Given the description of an element on the screen output the (x, y) to click on. 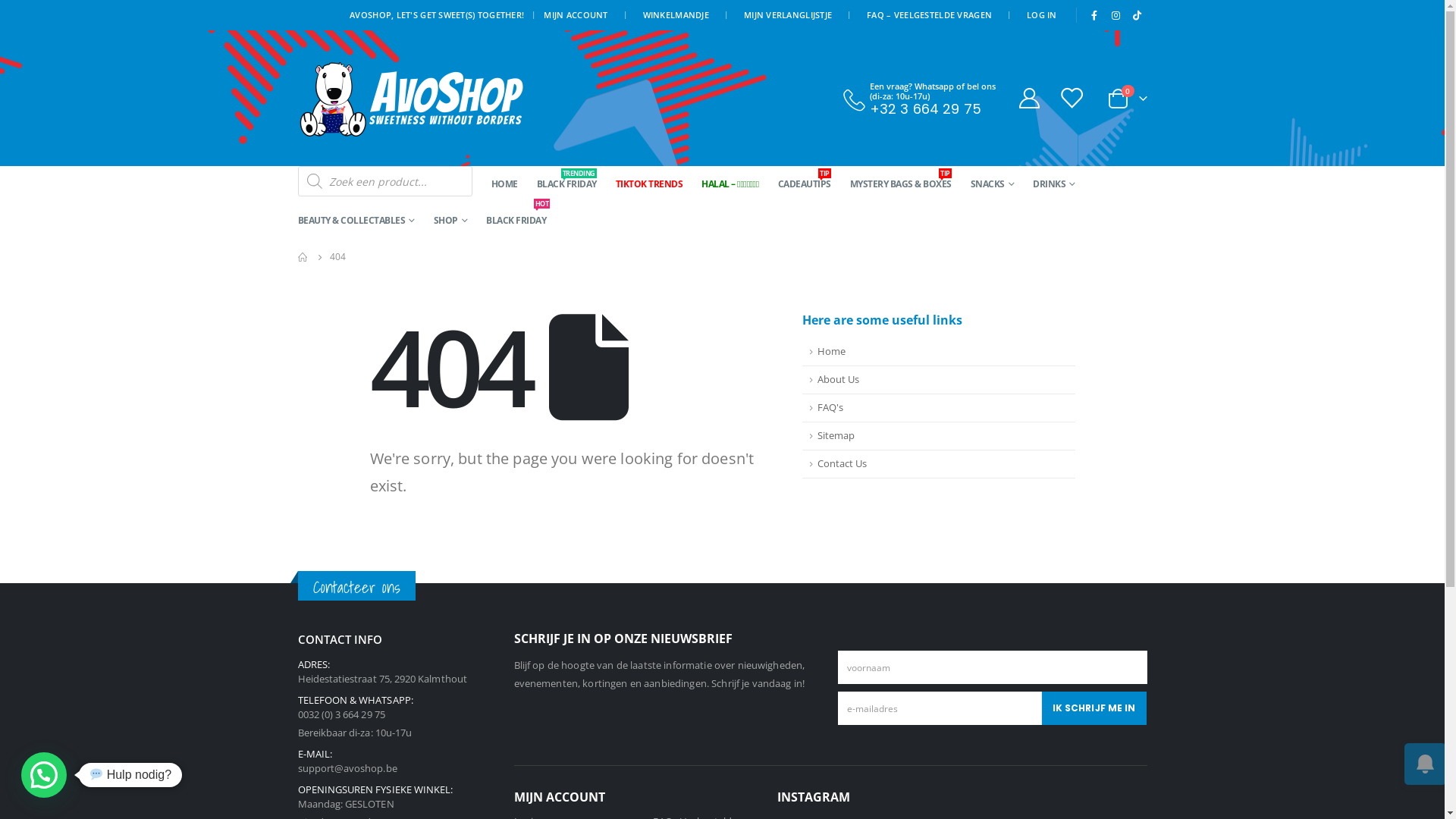
CADEAUTIPS
TIP Element type: text (804, 184)
About Us Element type: text (938, 380)
FAQ's Element type: text (938, 408)
Contact Us Element type: text (938, 464)
SNACKS Element type: text (992, 184)
BLACK FRIDAY
TRENDING Element type: text (566, 184)
TIKTOK TRENDS Element type: text (649, 184)
HOME Element type: text (504, 184)
Go to Home Page Element type: hover (302, 256)
Wishlist Element type: hover (1071, 97)
Sitemap Element type: text (938, 436)
DRINKS Element type: text (1053, 184)
My Account Element type: hover (1029, 97)
SHOP Element type: text (450, 220)
BEAUTY & COLLECTABLES Element type: text (355, 220)
Instagram Element type: hover (1115, 15)
Home Element type: text (938, 352)
support@avoshop.be Element type: text (346, 768)
BLACK FRIDAY
HOT Element type: text (516, 220)
Facebook Element type: hover (1094, 15)
MYSTERY BAGS & BOXES
TIP Element type: text (900, 184)
MIJN ACCOUNT Element type: text (580, 14)
Tiktok Element type: hover (1137, 15)
WINKELMANDJE Element type: text (675, 14)
LOG IN Element type: text (1041, 14)
IK SCHRIJF ME IN Element type: text (1093, 707)
MIJN VERLANGLIJSTJE Element type: text (787, 14)
